Given the description of an element on the screen output the (x, y) to click on. 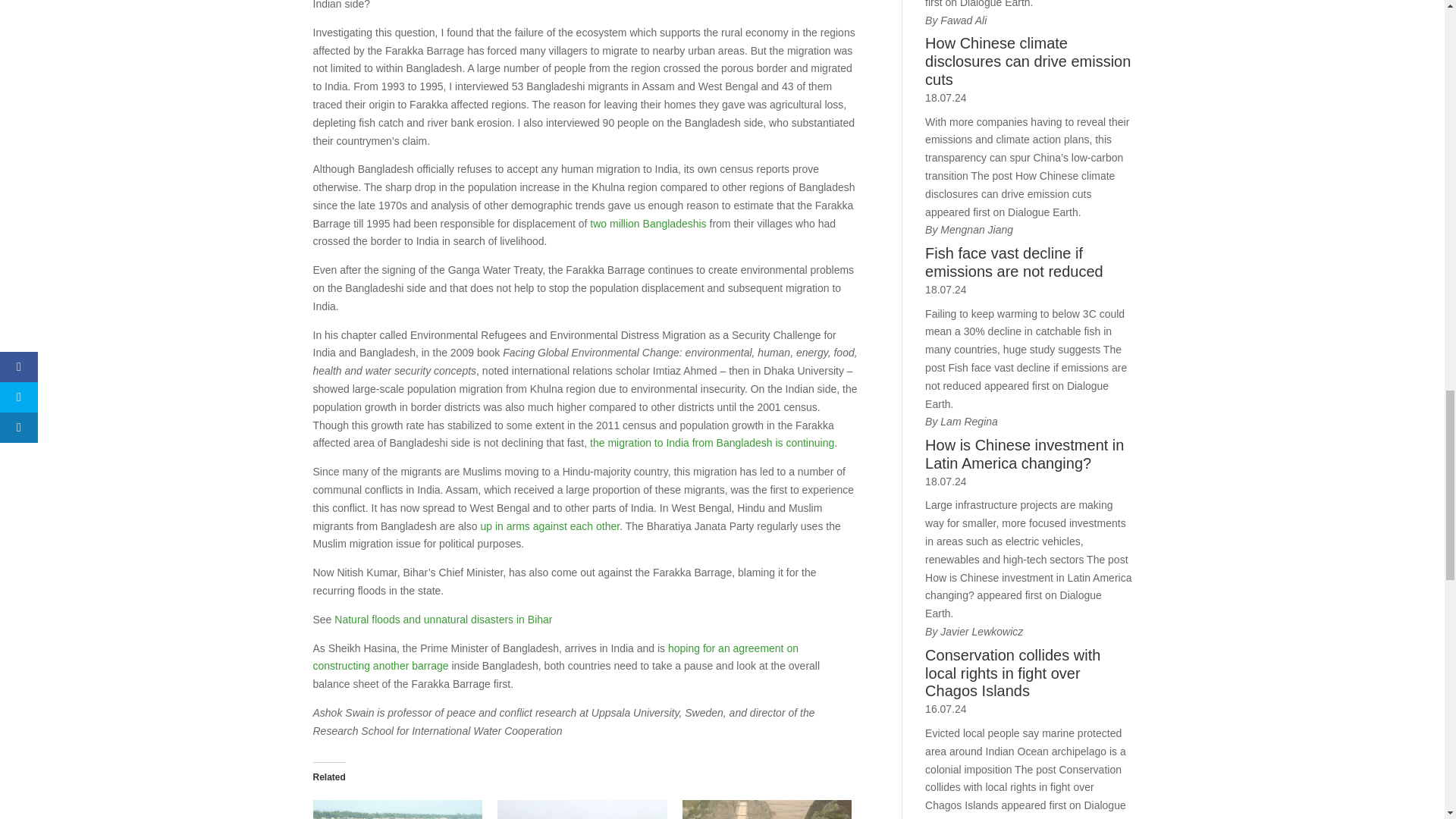
two million Bangladeshis (647, 223)
How is Chinese investment in Latin America changing? (1027, 454)
up in arms against each other (550, 526)
Multimedia: Sorry state of Ganga downstream of Farakka (581, 809)
hoping for an agreement on constructing another barrage (555, 657)
the migration to India from Bangladesh is continuing (711, 442)
How Chinese climate disclosures can drive emission cuts (1027, 61)
Natural floods and unnatural disasters in Bihar (442, 619)
Fish face vast decline if emissions are not reduced (1027, 262)
Natural floods and unnatural disasters in Bihar (397, 809)
Low water reserves spell trouble for India (766, 809)
